Given the description of an element on the screen output the (x, y) to click on. 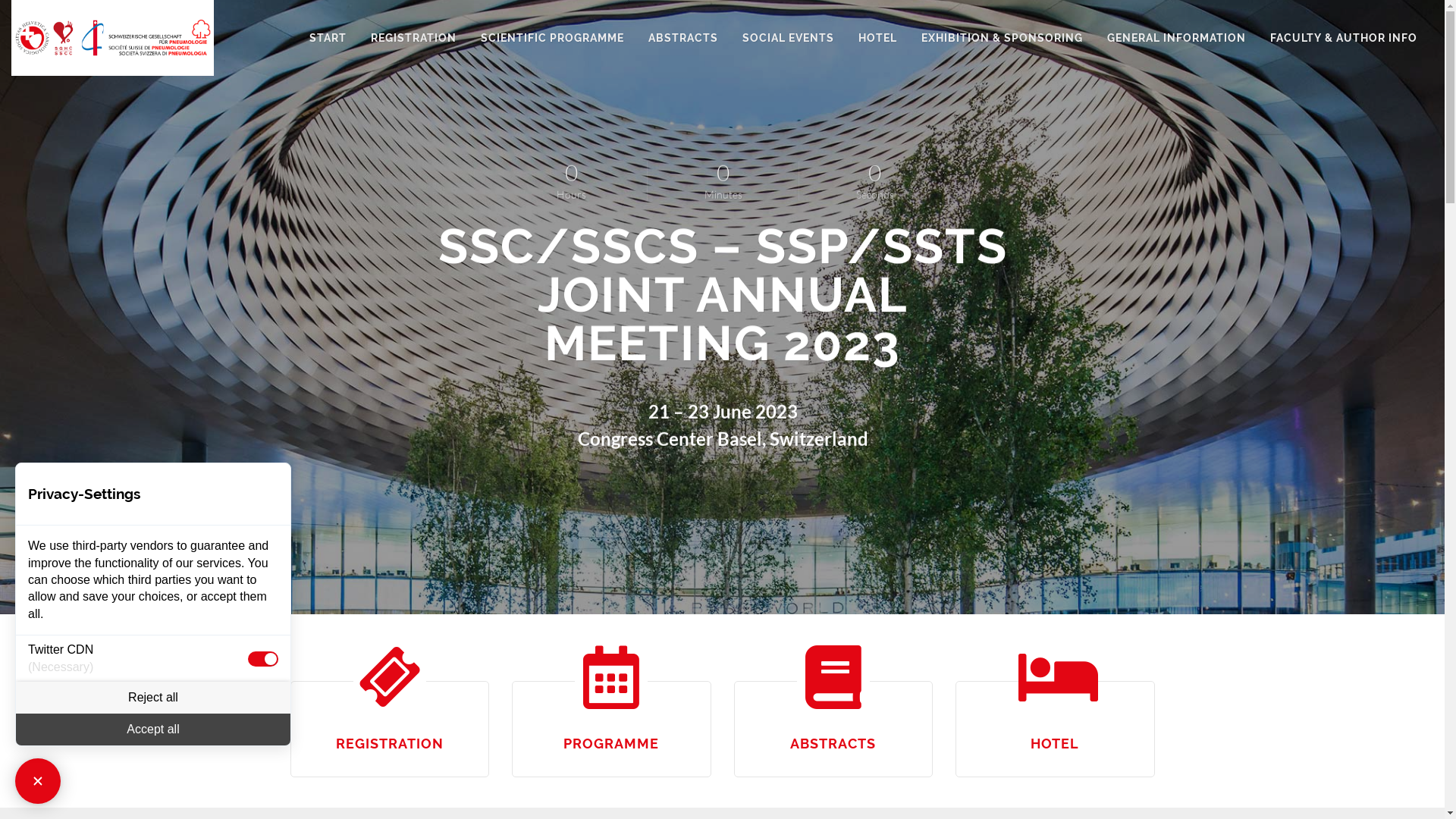
REGISTRATION Element type: text (413, 37)
HOTEL Element type: text (877, 37)
PROGRAMME Element type: text (610, 743)
ABSTRACTS Element type: text (683, 37)
Accept all Element type: text (152, 729)
FACULTY & AUTHOR INFO Element type: text (1343, 37)
Reject all Element type: text (152, 697)
HOTEL Element type: text (1054, 743)
GENERAL INFORMATION Element type: text (1176, 37)
START Element type: text (327, 37)
EXHIBITION & SPONSORING Element type: text (1002, 37)
REGISTRATION Element type: text (389, 743)
ABSTRACTS Element type: text (832, 743)
SCIENTIFIC PROGRAMME Element type: text (552, 37)
SOCIAL EVENTS Element type: text (788, 37)
